Given the description of an element on the screen output the (x, y) to click on. 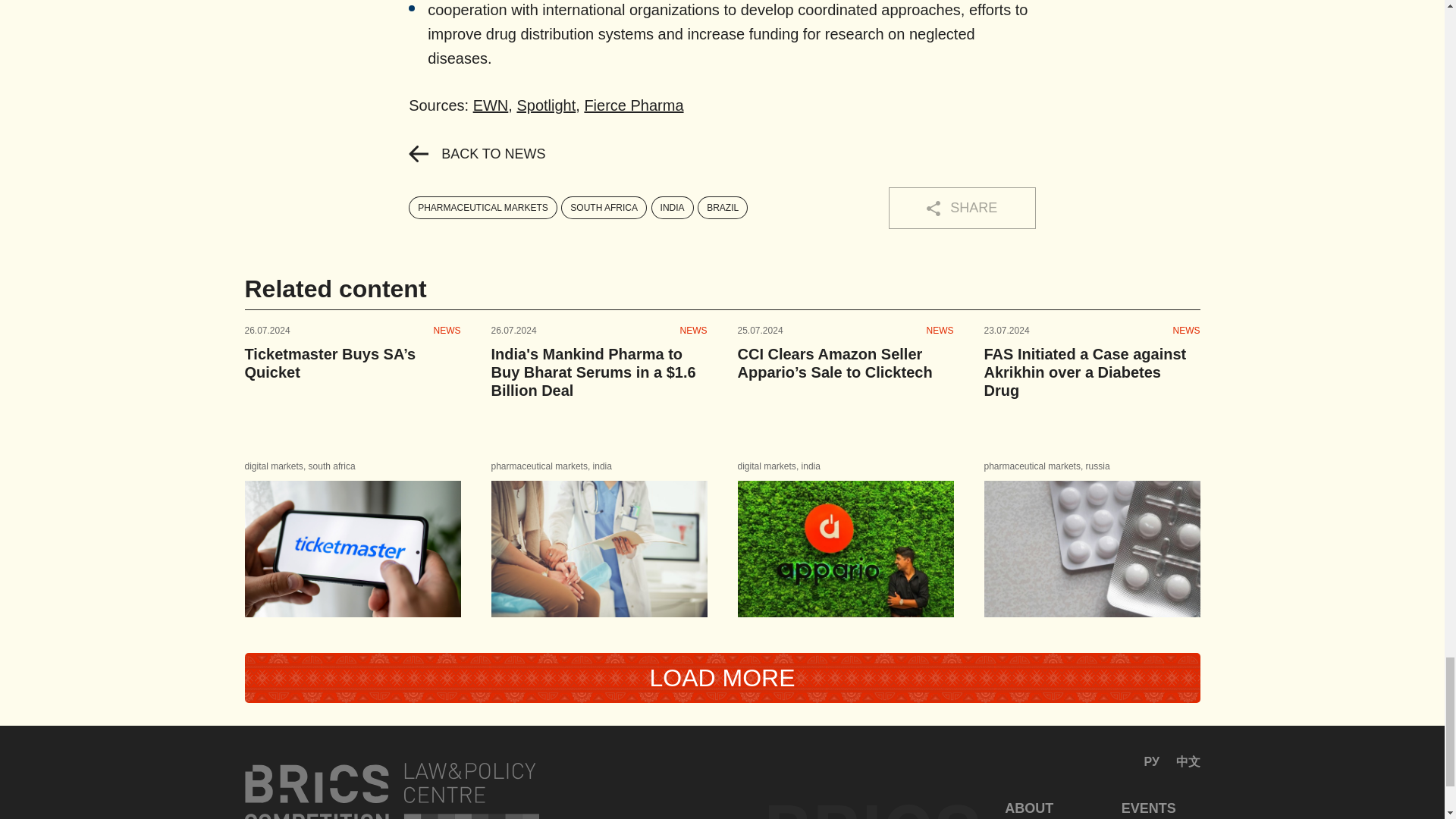
south africa (331, 466)
Fierce Pharma (632, 105)
NEWS (447, 330)
digital markets (273, 466)
EWN (490, 105)
INDIA (672, 207)
BRAZIL (722, 207)
SOUTH AFRICA (603, 207)
PHARMACEUTICAL MARKETS (483, 207)
SHARE (961, 208)
BACK TO NEWS (476, 153)
Spotlight (545, 105)
BRICS (391, 790)
